Given the description of an element on the screen output the (x, y) to click on. 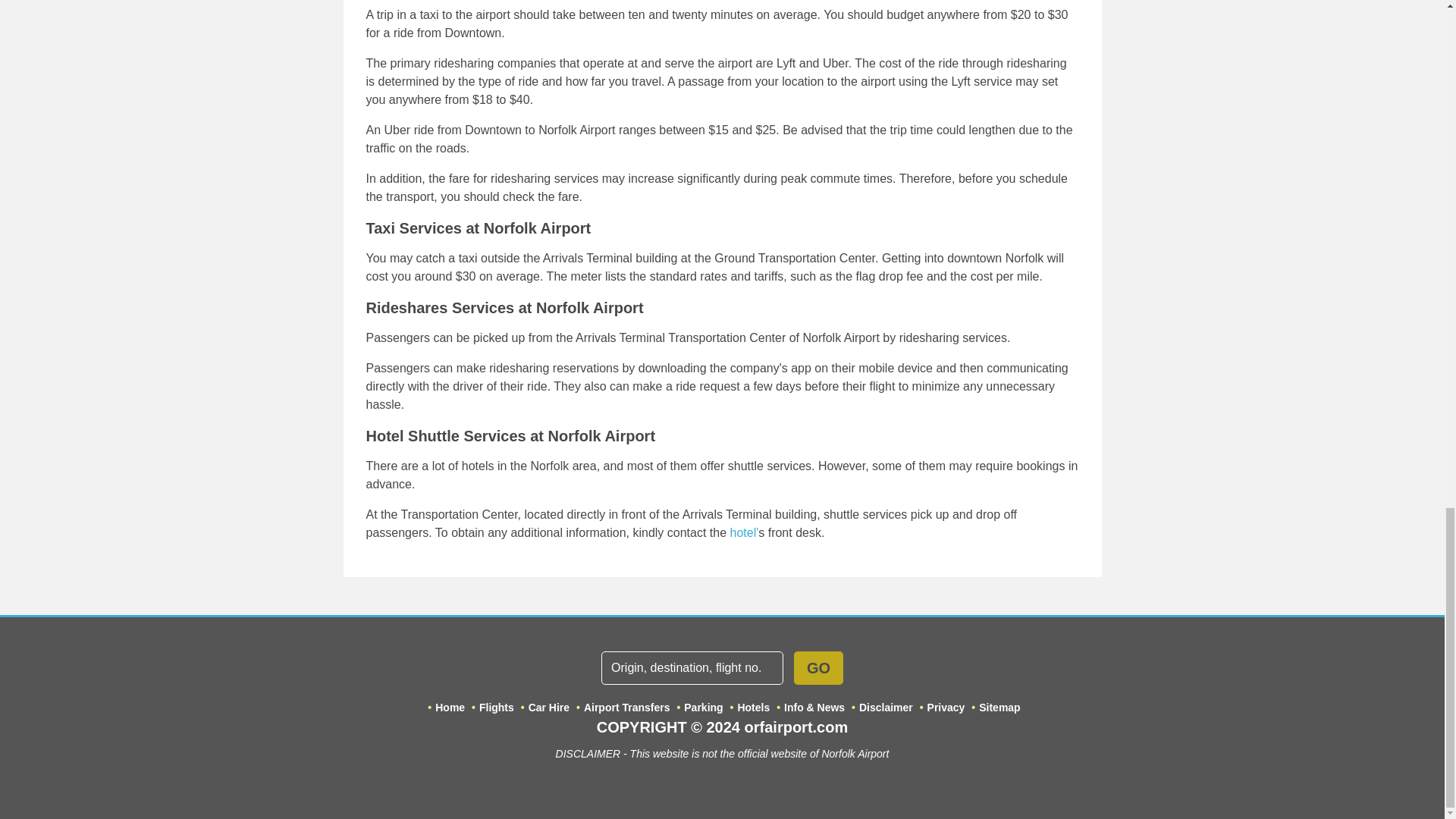
GO (818, 667)
hotel' (743, 532)
Hotels (743, 532)
